Given the description of an element on the screen output the (x, y) to click on. 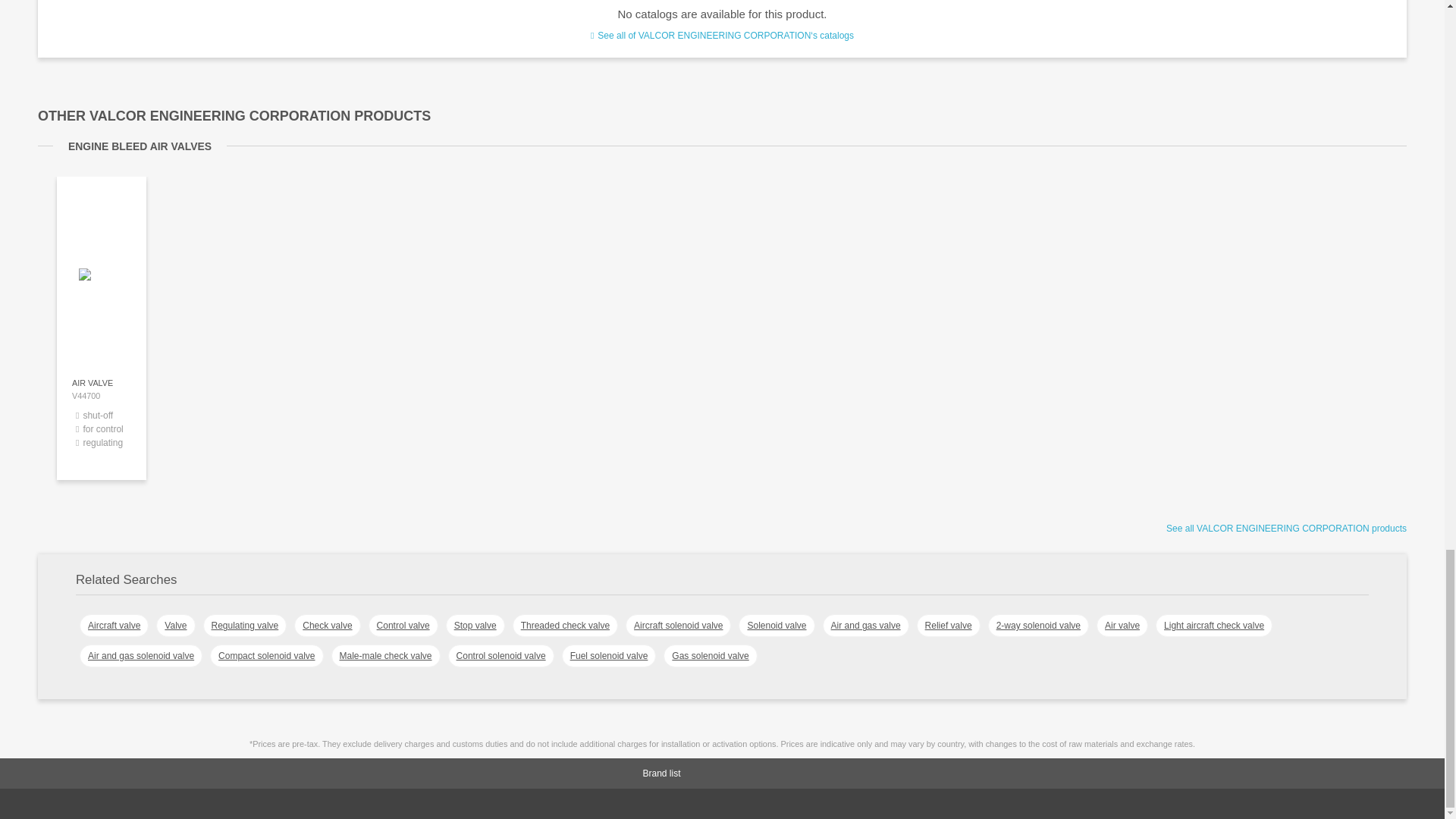
See all VALCOR ENGINEERING CORPORATION products (1286, 528)
Relief valve (948, 625)
Valve (175, 625)
Aircraft solenoid valve (678, 625)
Brand list (745, 773)
Fuel solenoid valve (609, 655)
Air and gas solenoid valve (141, 655)
Solenoid valve (775, 625)
Male-male check valve (384, 655)
Regulating valve (244, 625)
